Given the description of an element on the screen output the (x, y) to click on. 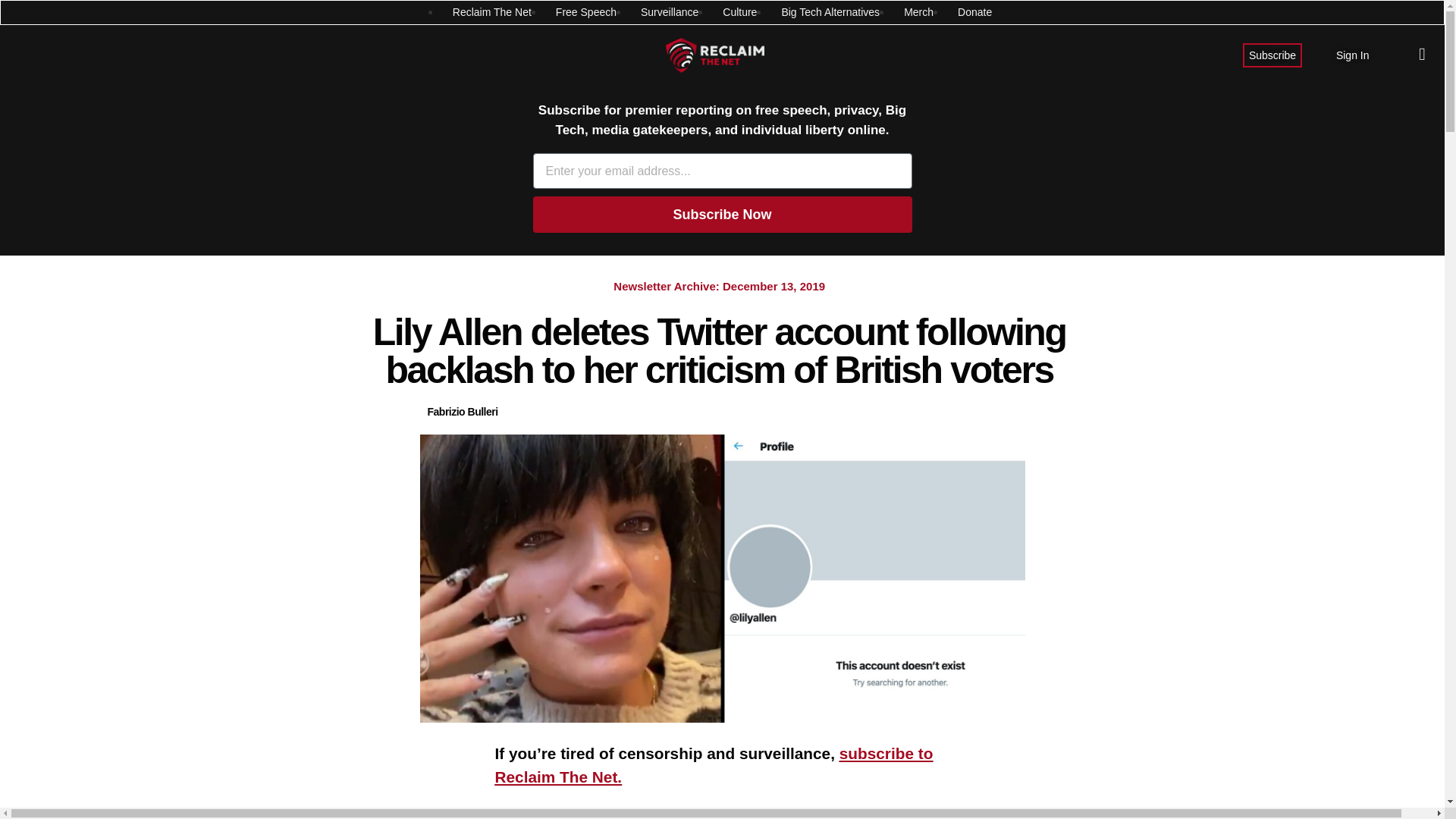
Culture (739, 12)
Sign In (1353, 55)
subscribe to Reclaim The Net. (714, 764)
Donate (974, 12)
Subscribe Now (721, 214)
Free Speech (585, 12)
Big Tech Alternatives (829, 12)
Reclaim The Net (491, 12)
Fabrizio Bulleri (462, 412)
Subscribe (1272, 55)
Merch (918, 12)
Surveillance (669, 12)
